Given the description of an element on the screen output the (x, y) to click on. 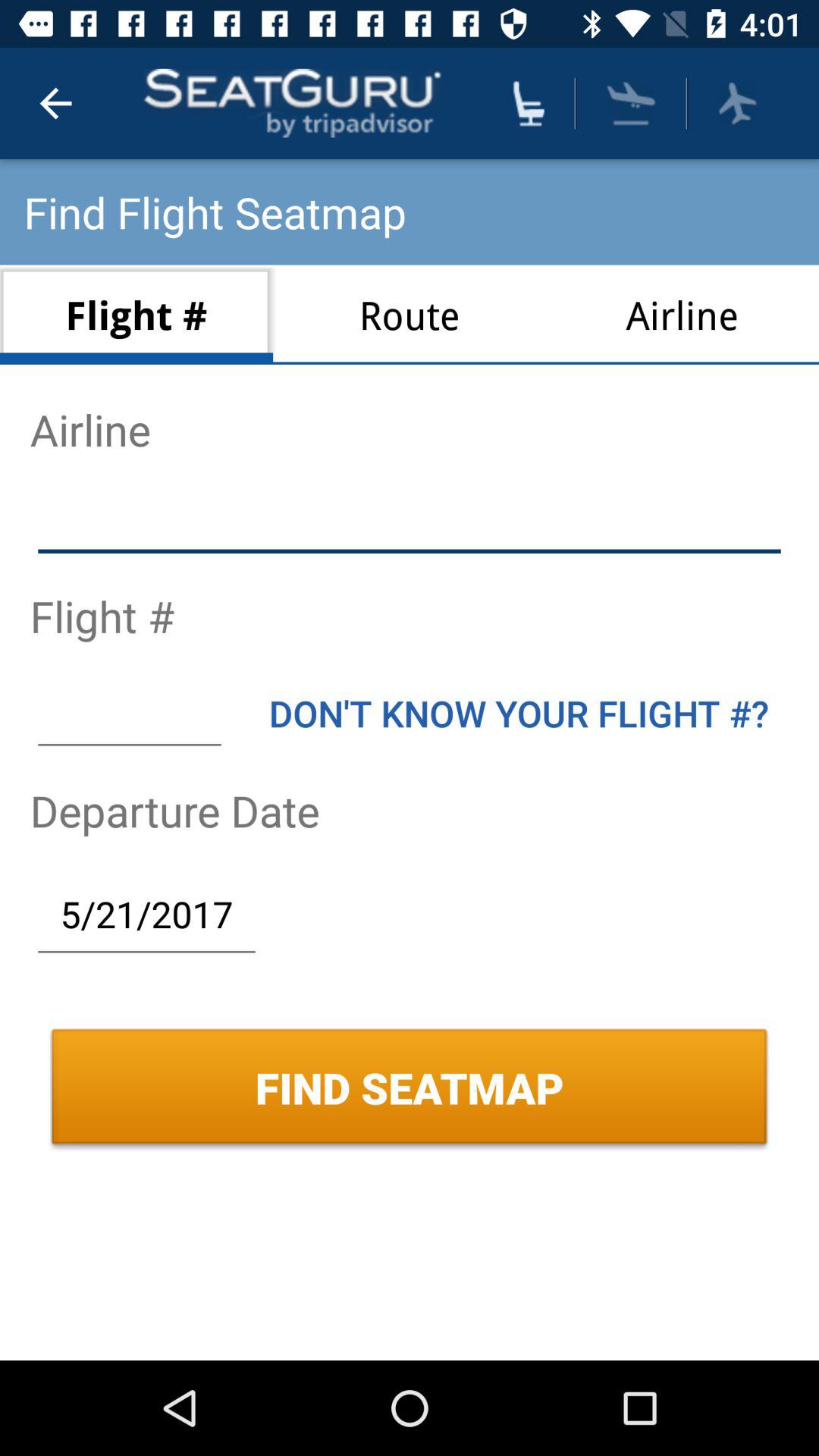
click icon above the flight # (409, 522)
